Given the description of an element on the screen output the (x, y) to click on. 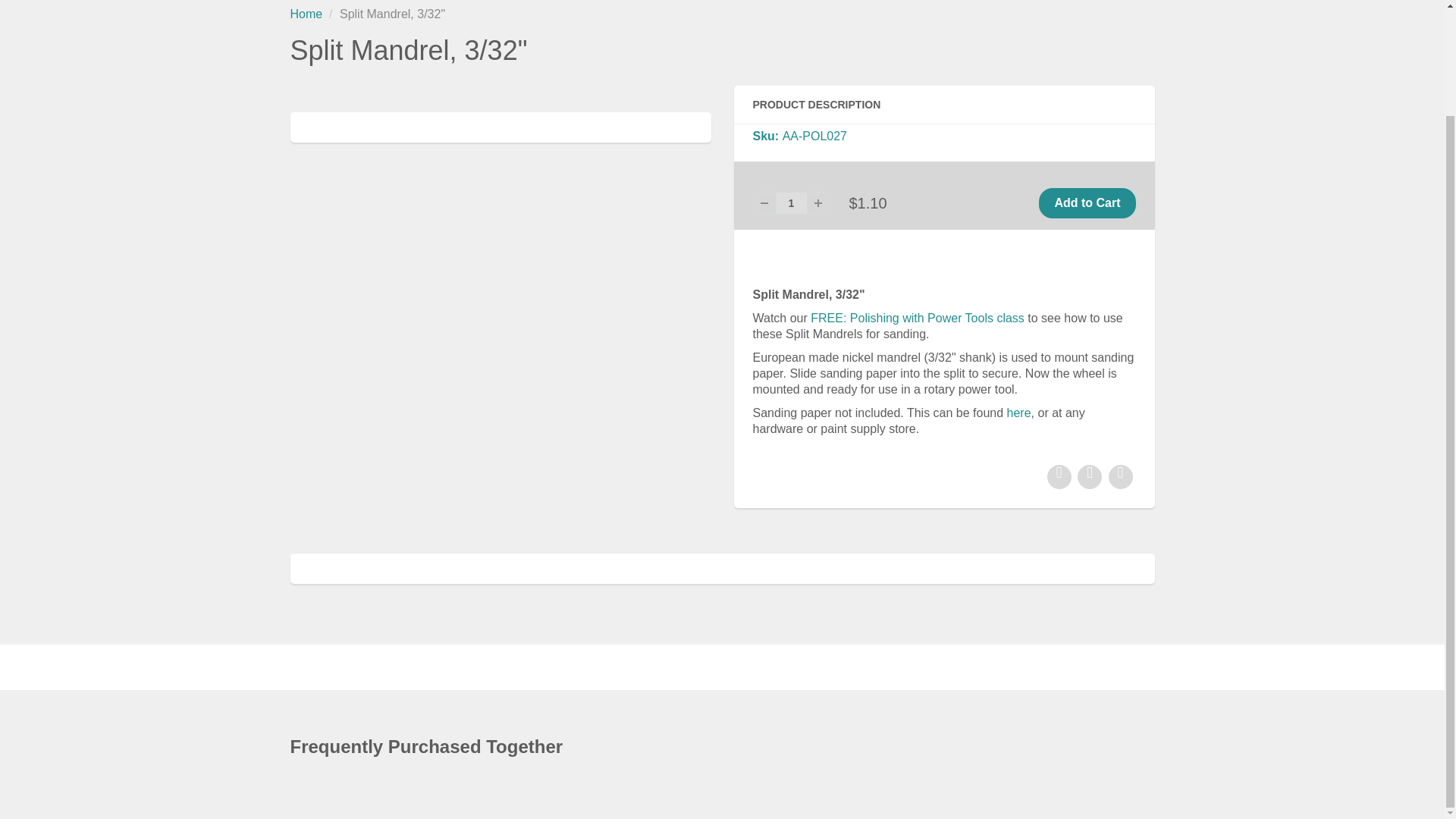
Home (305, 13)
1 (790, 202)
Add to Cart (1087, 203)
